Given the description of an element on the screen output the (x, y) to click on. 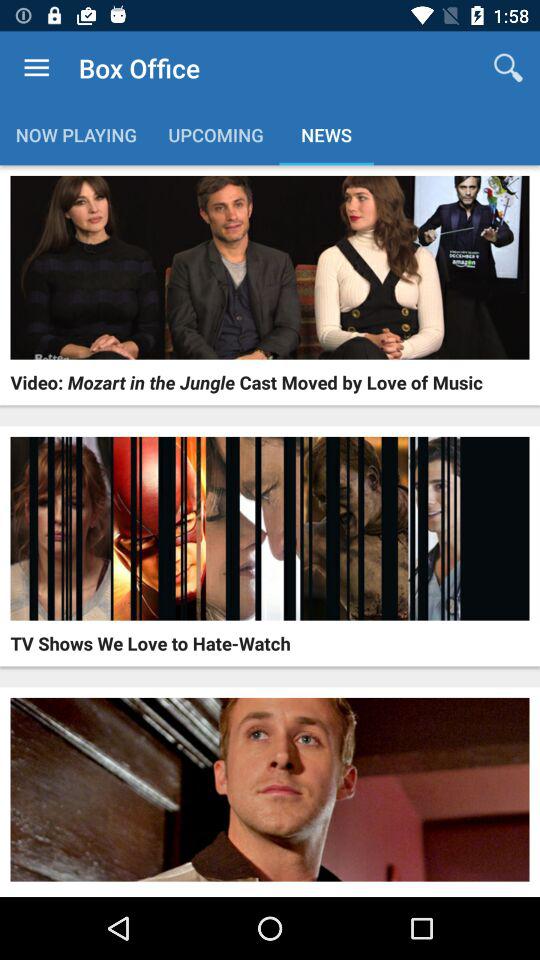
open the item above now playing icon (36, 68)
